Given the description of an element on the screen output the (x, y) to click on. 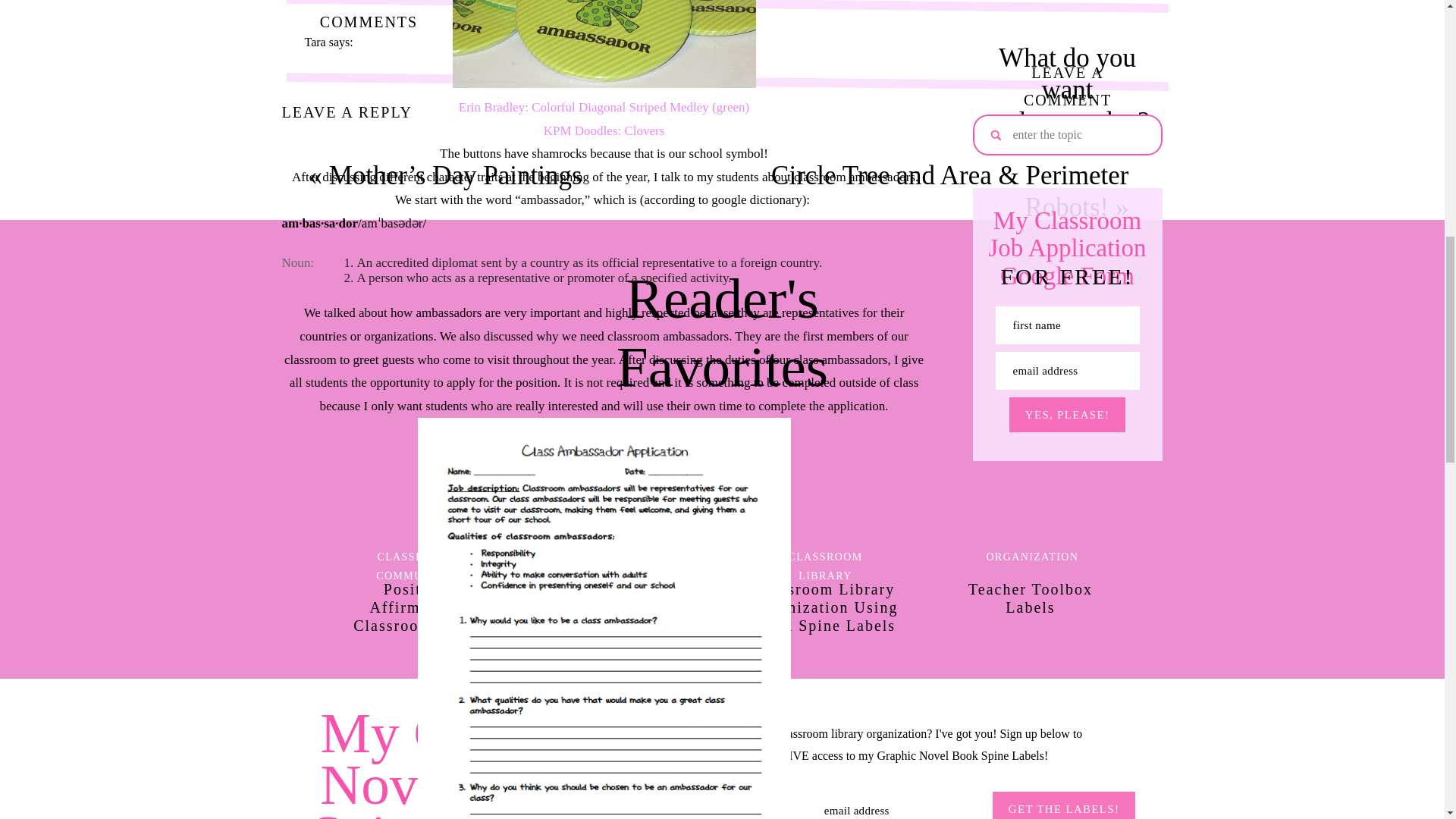
KPM Doodles: Clovers (604, 130)
Post Comment (337, 633)
Teacher on the go! (349, 456)
Molly (319, 600)
May 11, 2012 at 9:13 am (365, 63)
READ COMMENTS (369, 2)
Tara (315, 42)
Pamela Fulk (334, 786)
Reply (318, 563)
Reply (318, 419)
